Given the description of an element on the screen output the (x, y) to click on. 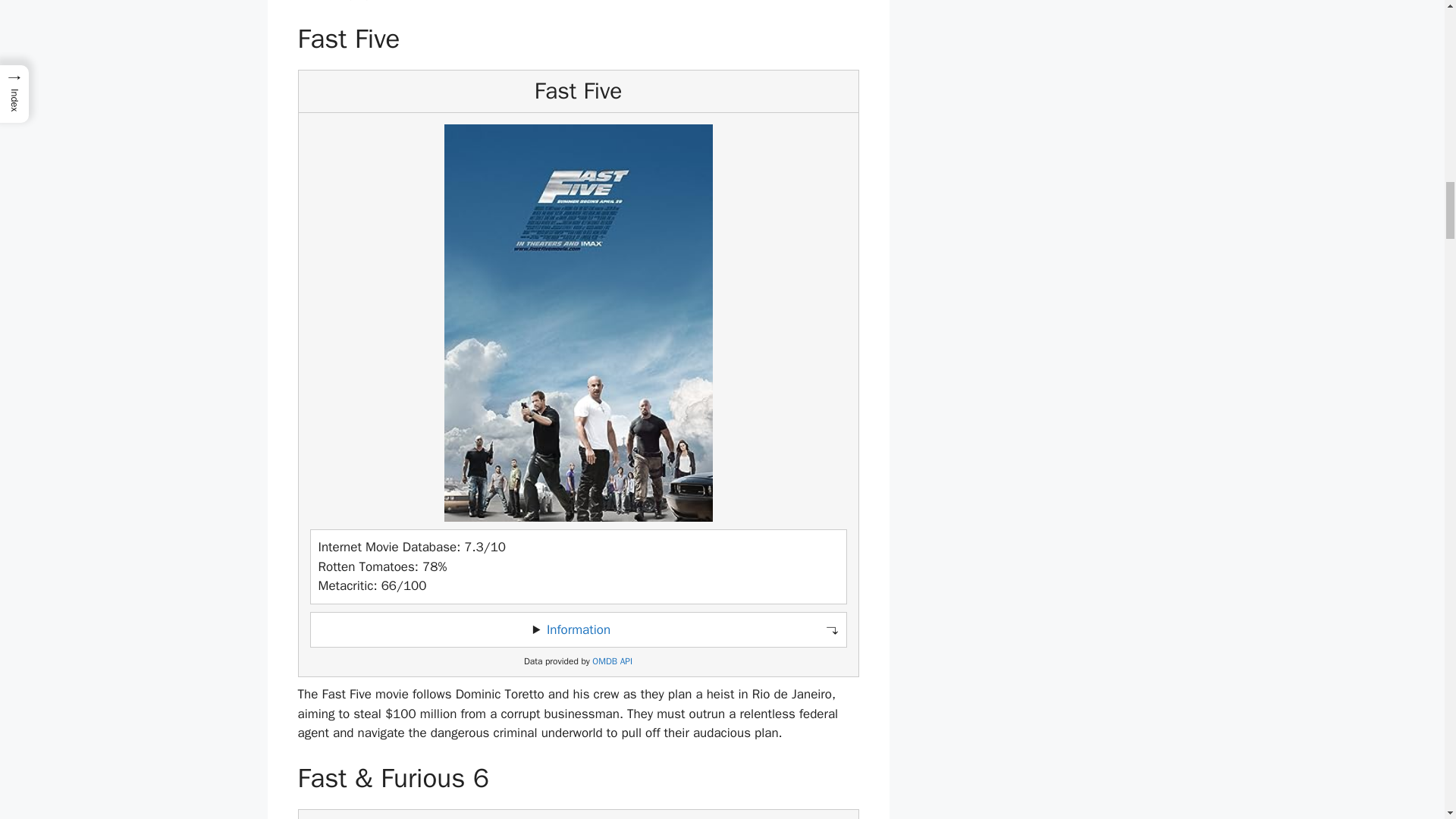
Toggle information (578, 629)
Open Movie Database API (611, 661)
Information (578, 629)
OMDB API (611, 661)
